Given the description of an element on the screen output the (x, y) to click on. 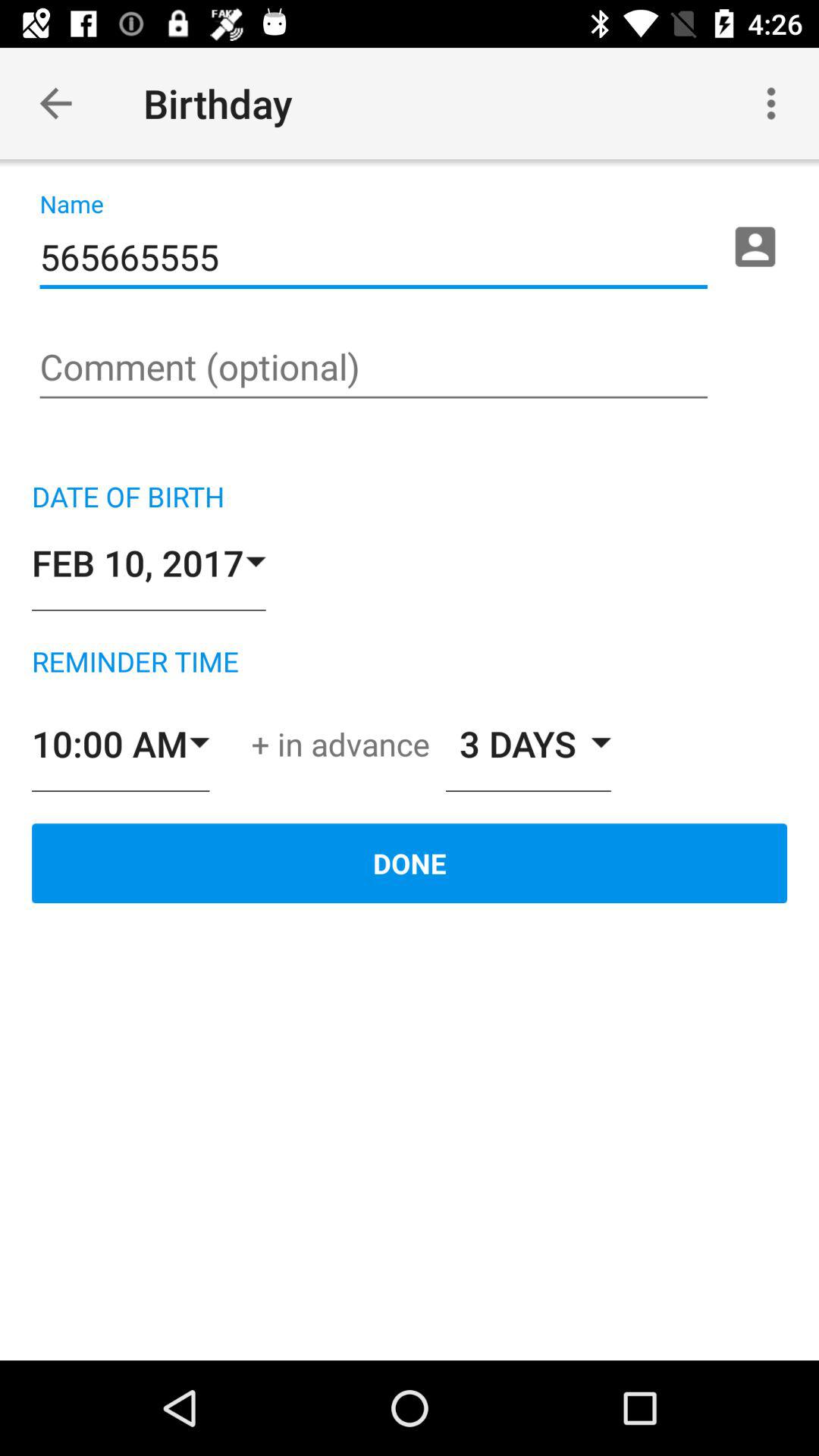
enter comment optional (373, 369)
